Given the description of an element on the screen output the (x, y) to click on. 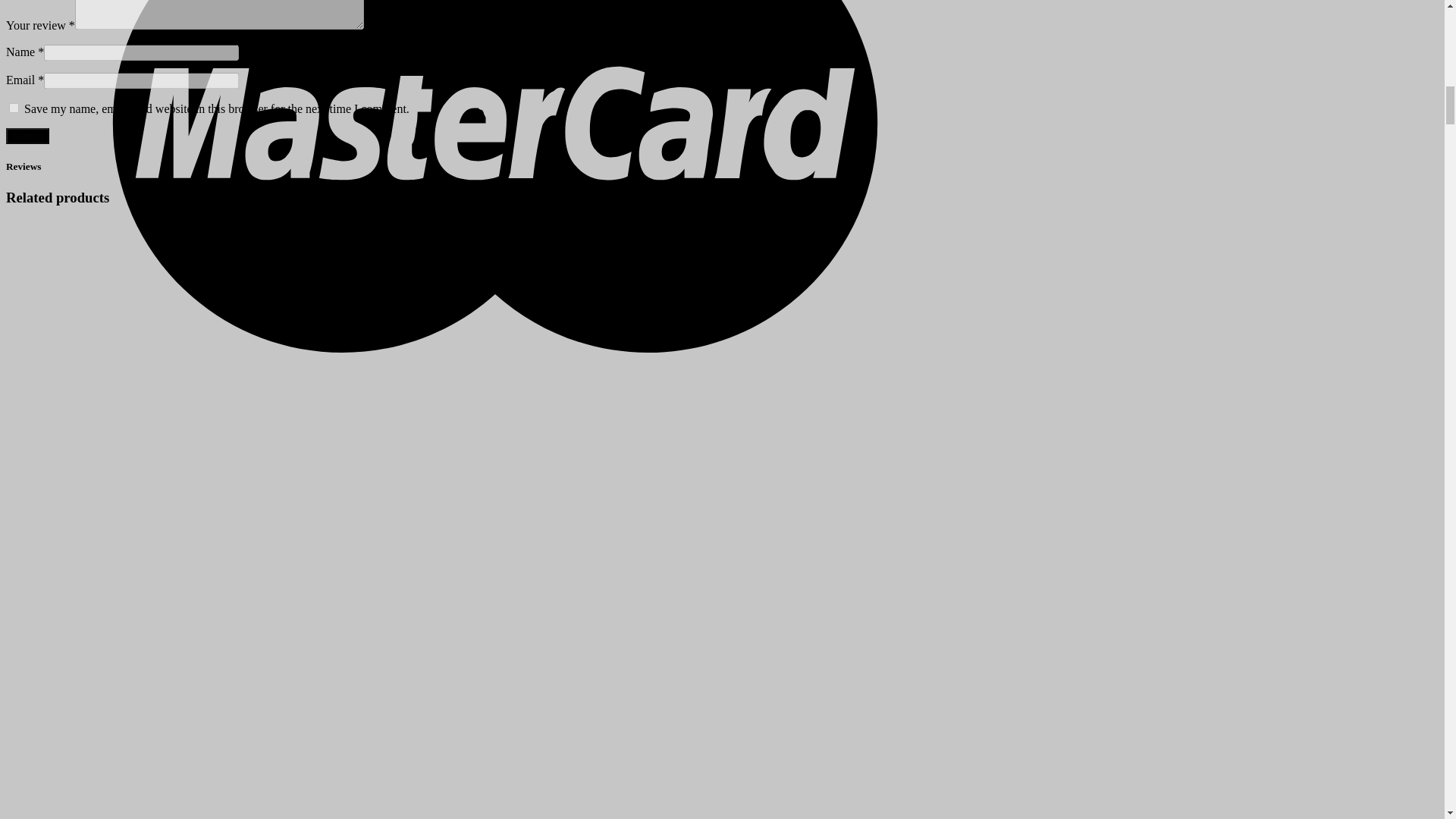
yes (13, 108)
Submit (27, 135)
